Given the description of an element on the screen output the (x, y) to click on. 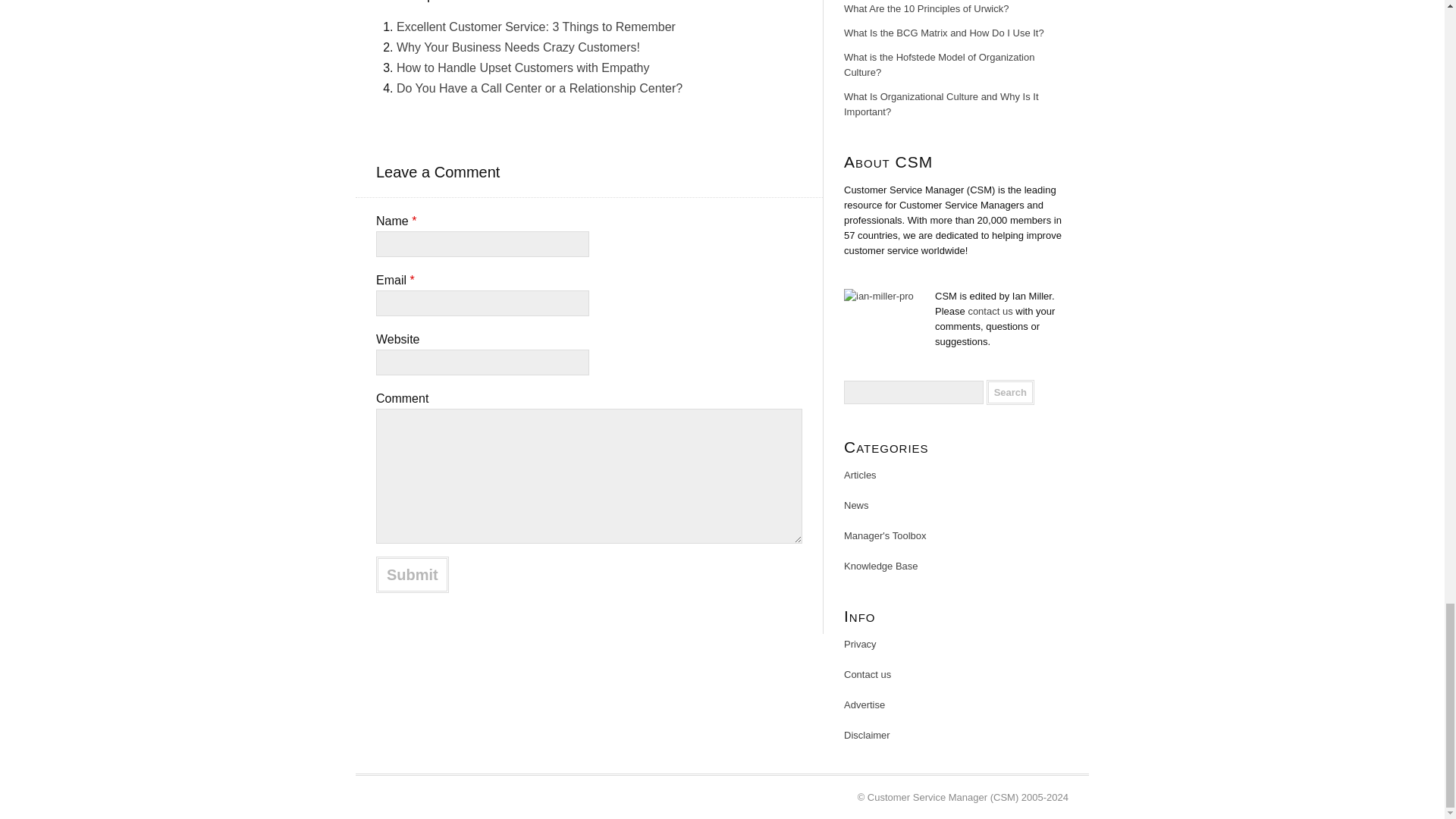
Excellent Customer Service: 3 Things to Remember (535, 26)
Submit (411, 574)
Submit (411, 574)
How to Handle Upset Customers with Empathy (522, 67)
Excellent Customer Service: 3 Things to Remember (535, 26)
How to Handle Upset Customers with Empathy (522, 67)
Search (1010, 392)
Why Your Business Needs Crazy Customers! (518, 47)
Why Your Business Needs Crazy Customers! (518, 47)
Do You Have a Call Center or a Relationship Center? (539, 88)
